Given the description of an element on the screen output the (x, y) to click on. 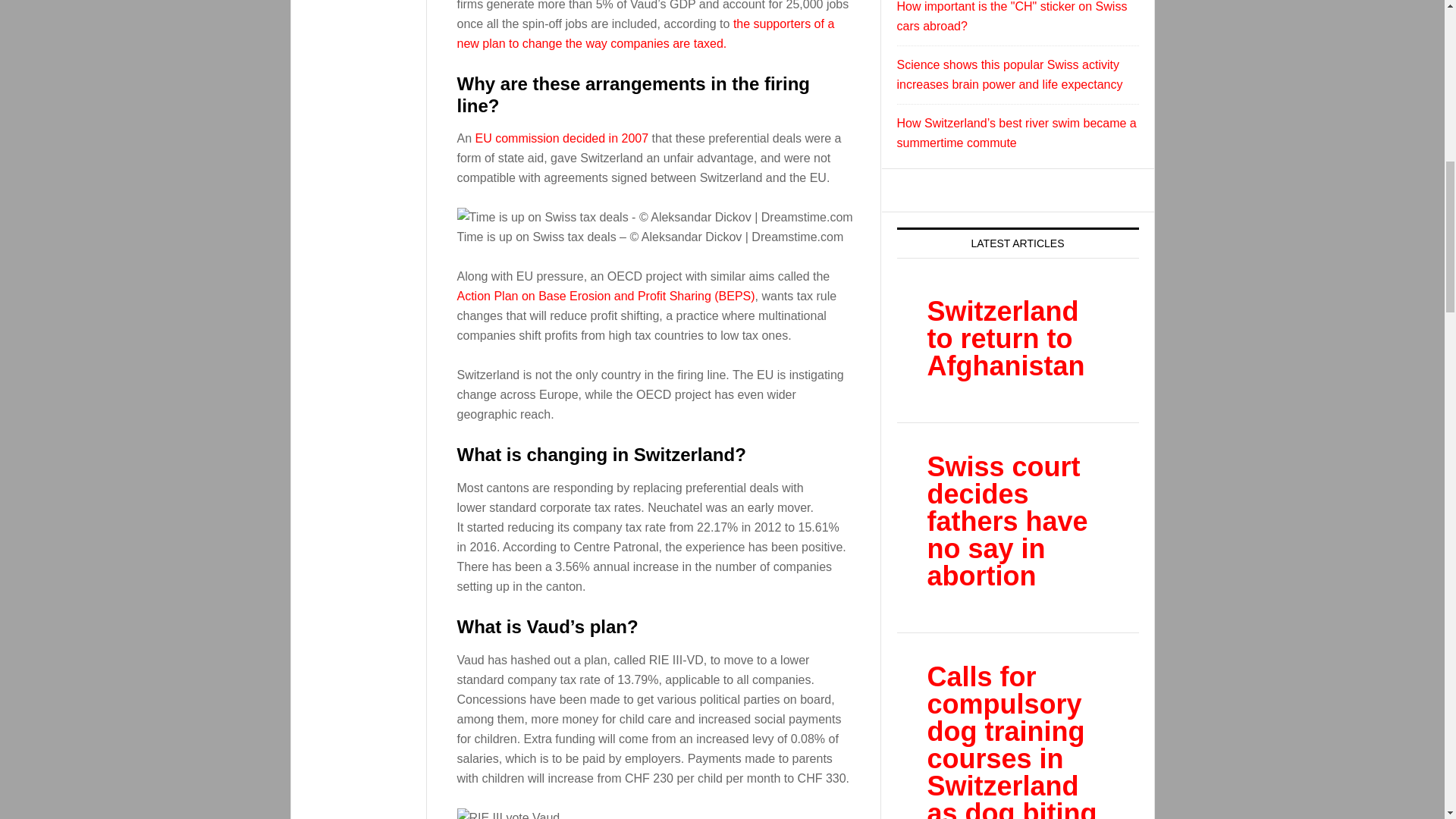
EU commission decided in 2007 (562, 137)
